Given the description of an element on the screen output the (x, y) to click on. 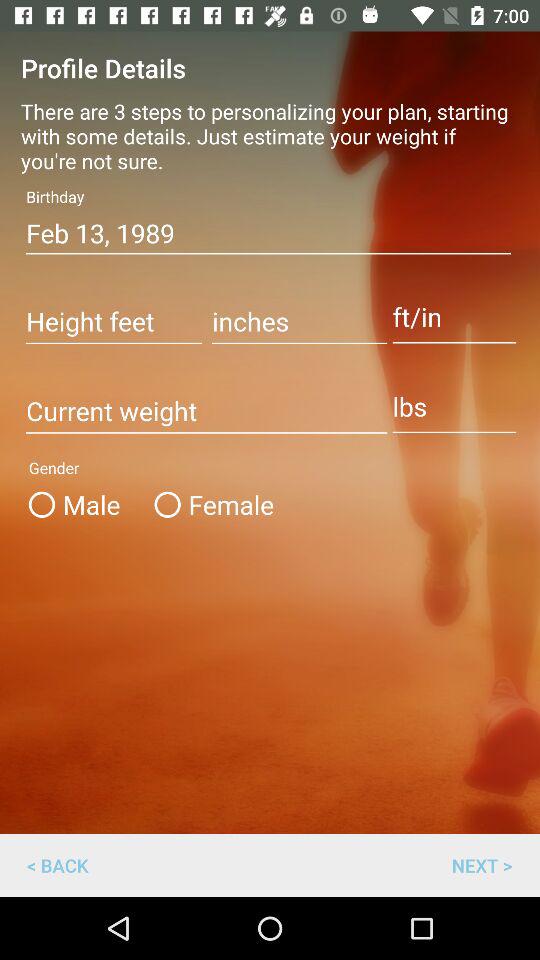
current weight entry (206, 412)
